Given the description of an element on the screen output the (x, y) to click on. 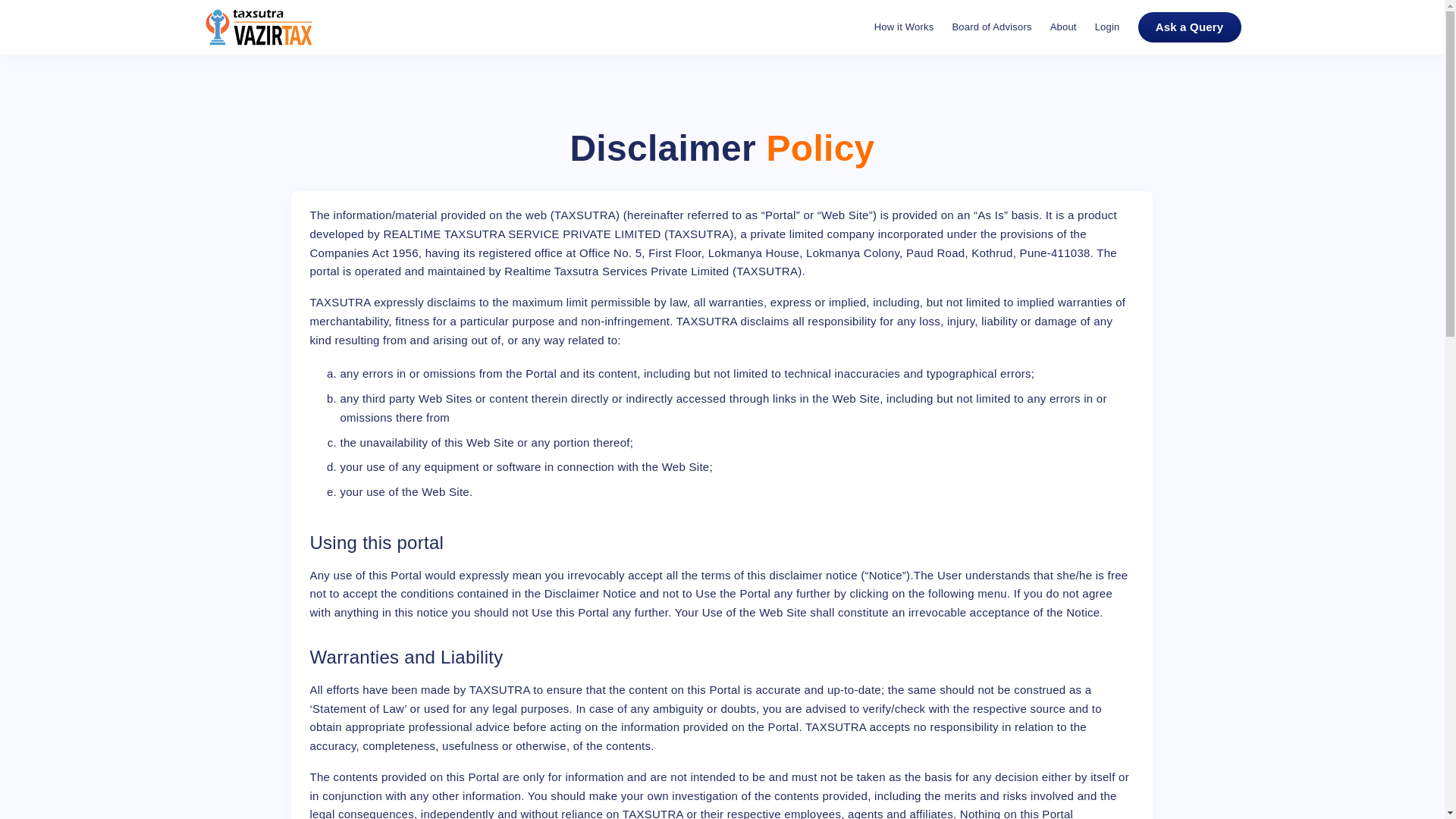
Board of Advisors (991, 27)
Ask a Query (1188, 27)
How it Works (904, 27)
